Given the description of an element on the screen output the (x, y) to click on. 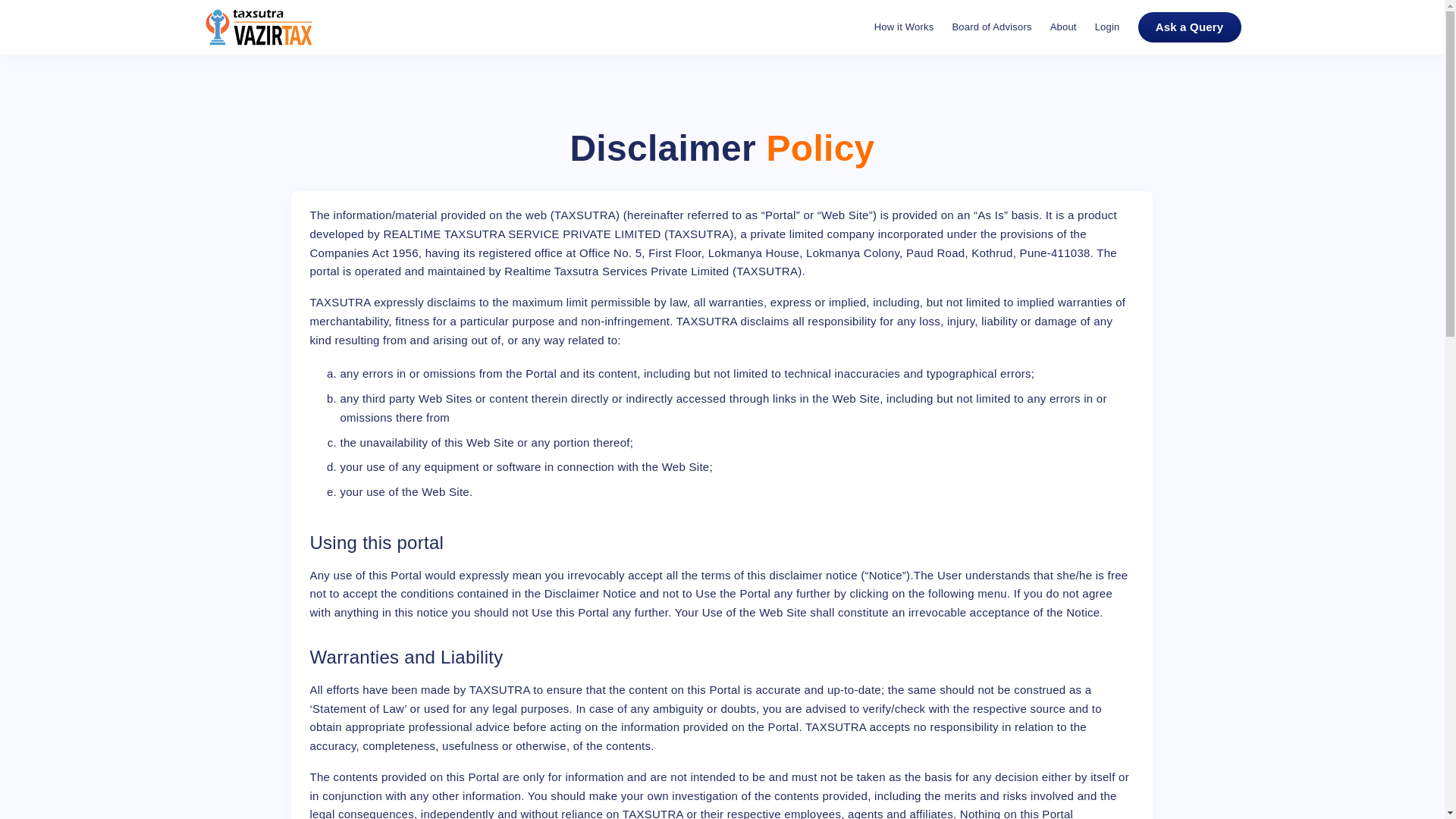
Board of Advisors (991, 27)
Ask a Query (1188, 27)
How it Works (904, 27)
